Given the description of an element on the screen output the (x, y) to click on. 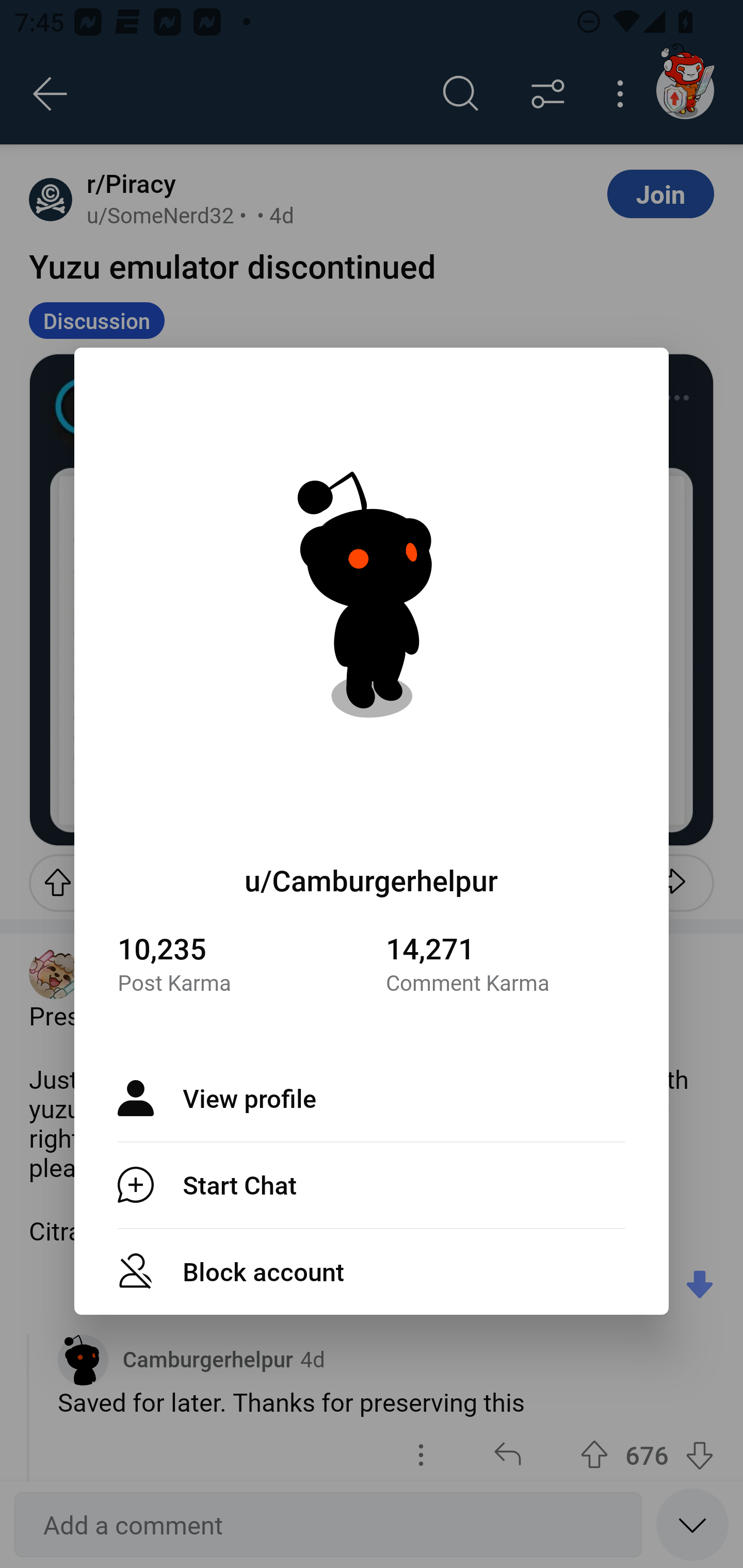
u/Camburgerhelpur (371, 880)
View profile (371, 1098)
Start Chat (371, 1184)
Block account (371, 1270)
